Given the description of an element on the screen output the (x, y) to click on. 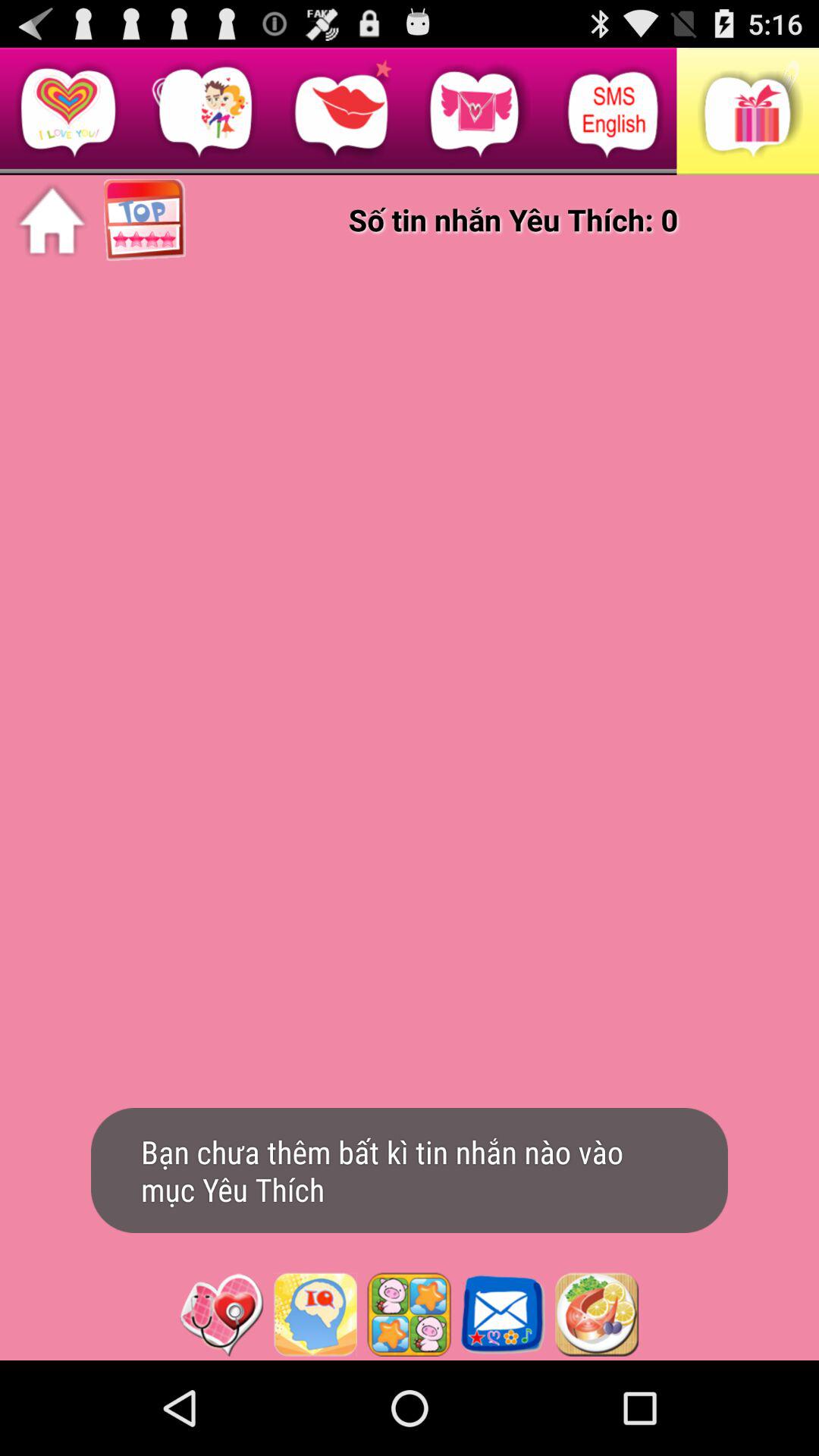
home page (51, 220)
